Given the description of an element on the screen output the (x, y) to click on. 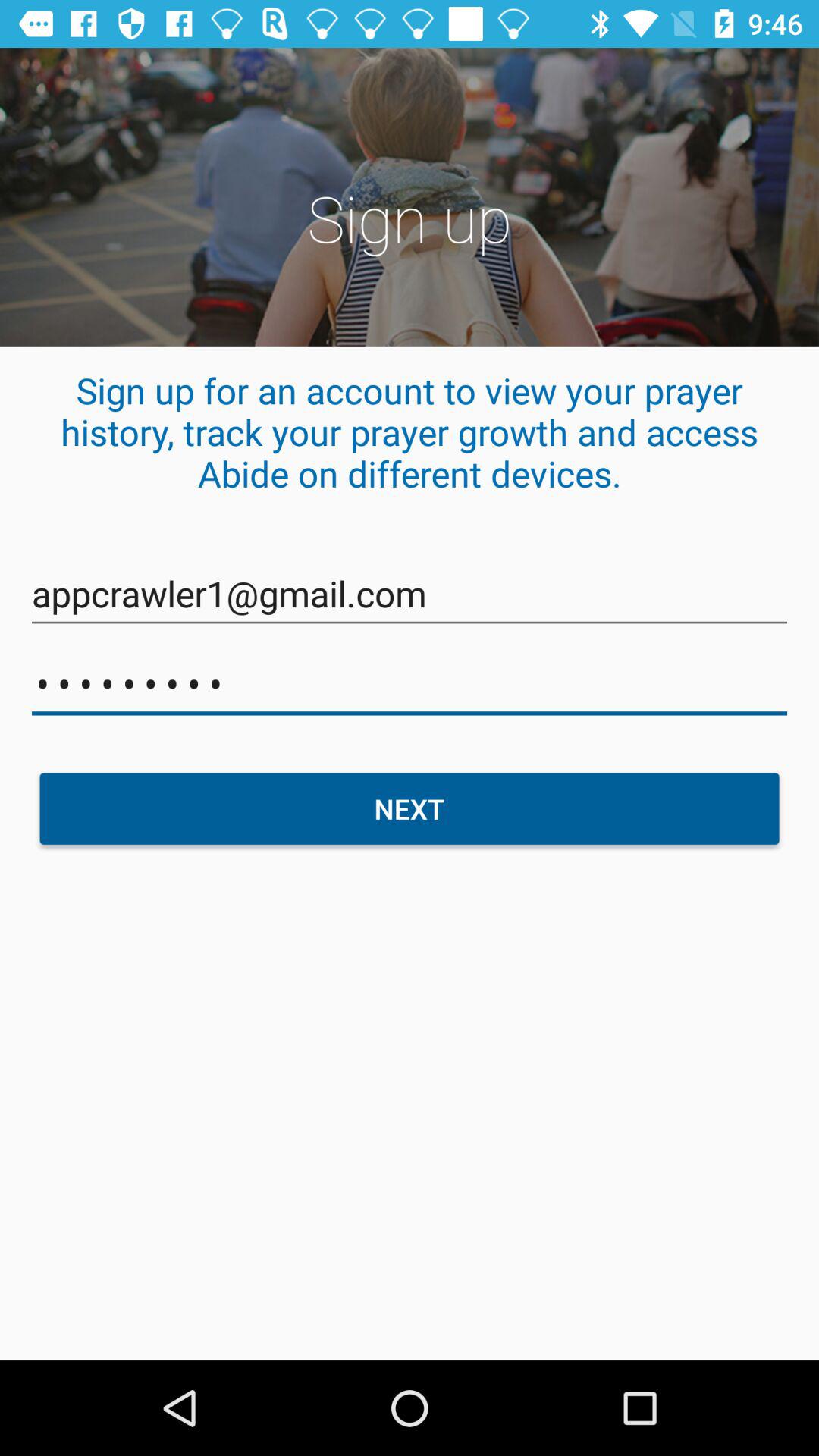
choose the item below the crowd3116 item (409, 808)
